Given the description of an element on the screen output the (x, y) to click on. 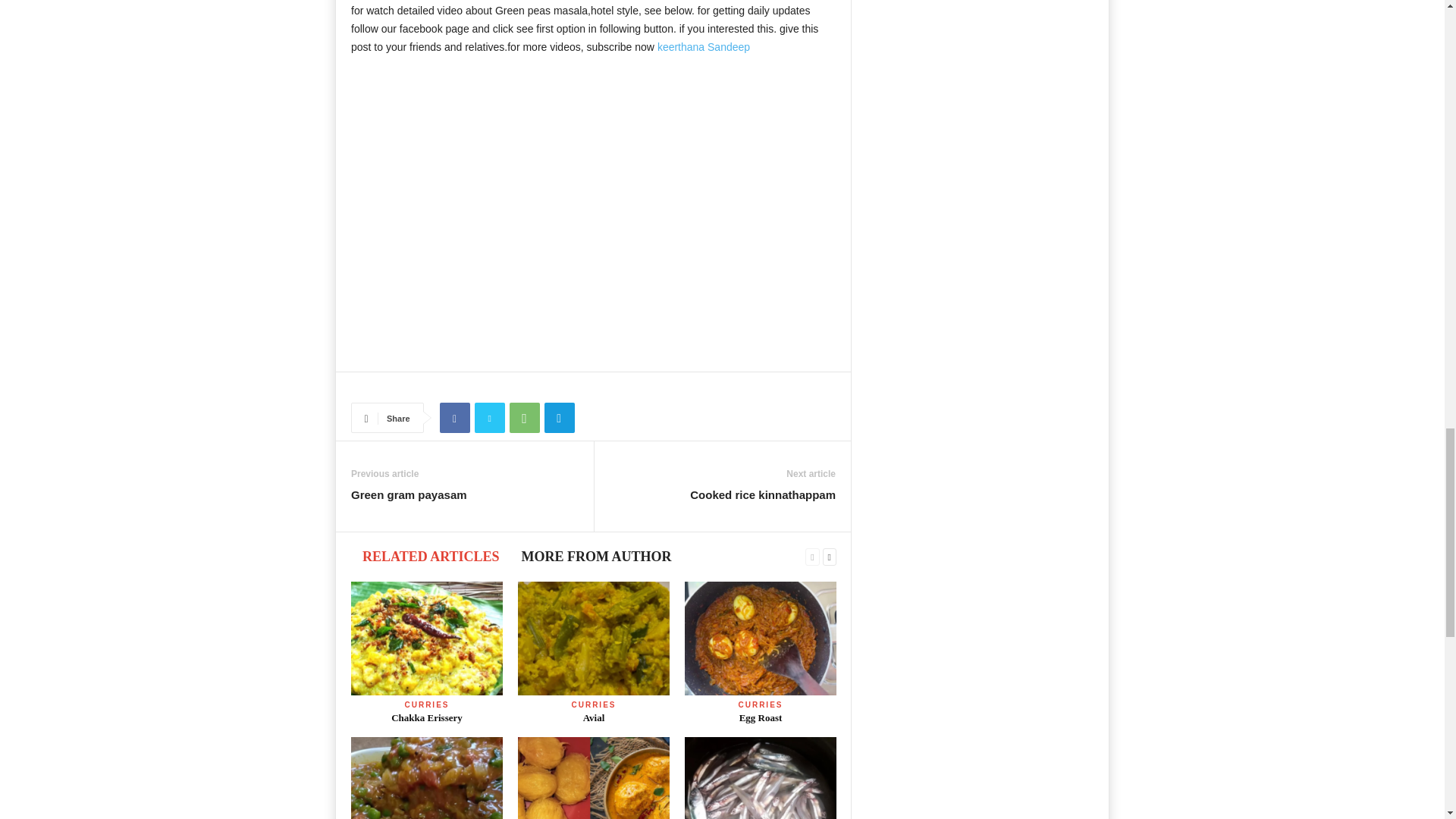
Chakka Erissery (426, 638)
YouTube video player (592, 211)
WhatsApp (524, 417)
bottomFacebookLike (390, 387)
Telegram (559, 417)
Facebook (454, 417)
Twitter (489, 417)
